Given the description of an element on the screen output the (x, y) to click on. 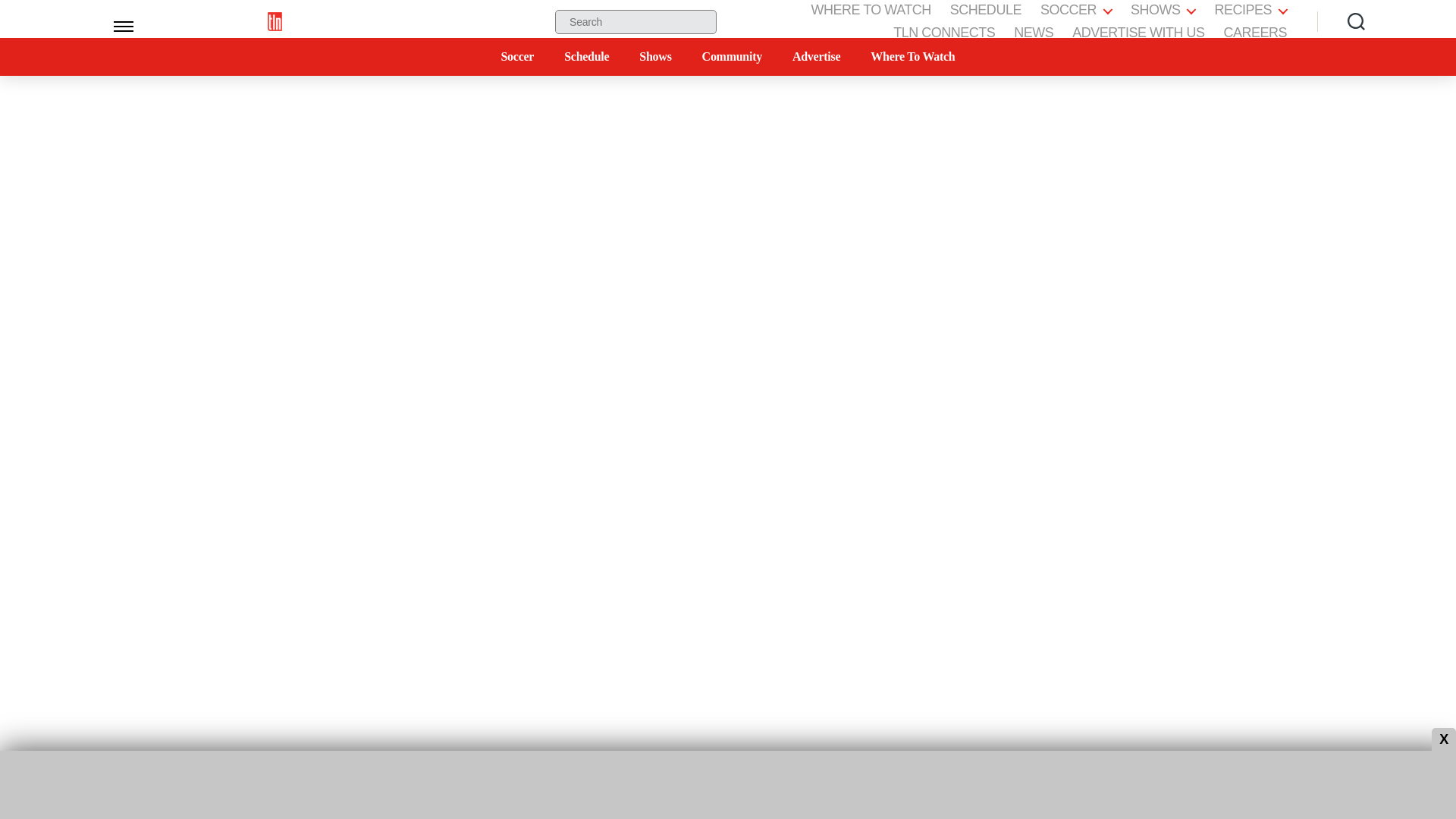
WHERE TO WATCH (870, 10)
SCHEDULE (986, 10)
Community (731, 56)
NEWS (1032, 32)
Soccer (517, 56)
SOCCER (1076, 10)
RECIPES (1250, 10)
SHOWS (1163, 10)
CAREERS (1255, 32)
Shows (655, 56)
